Given the description of an element on the screen output the (x, y) to click on. 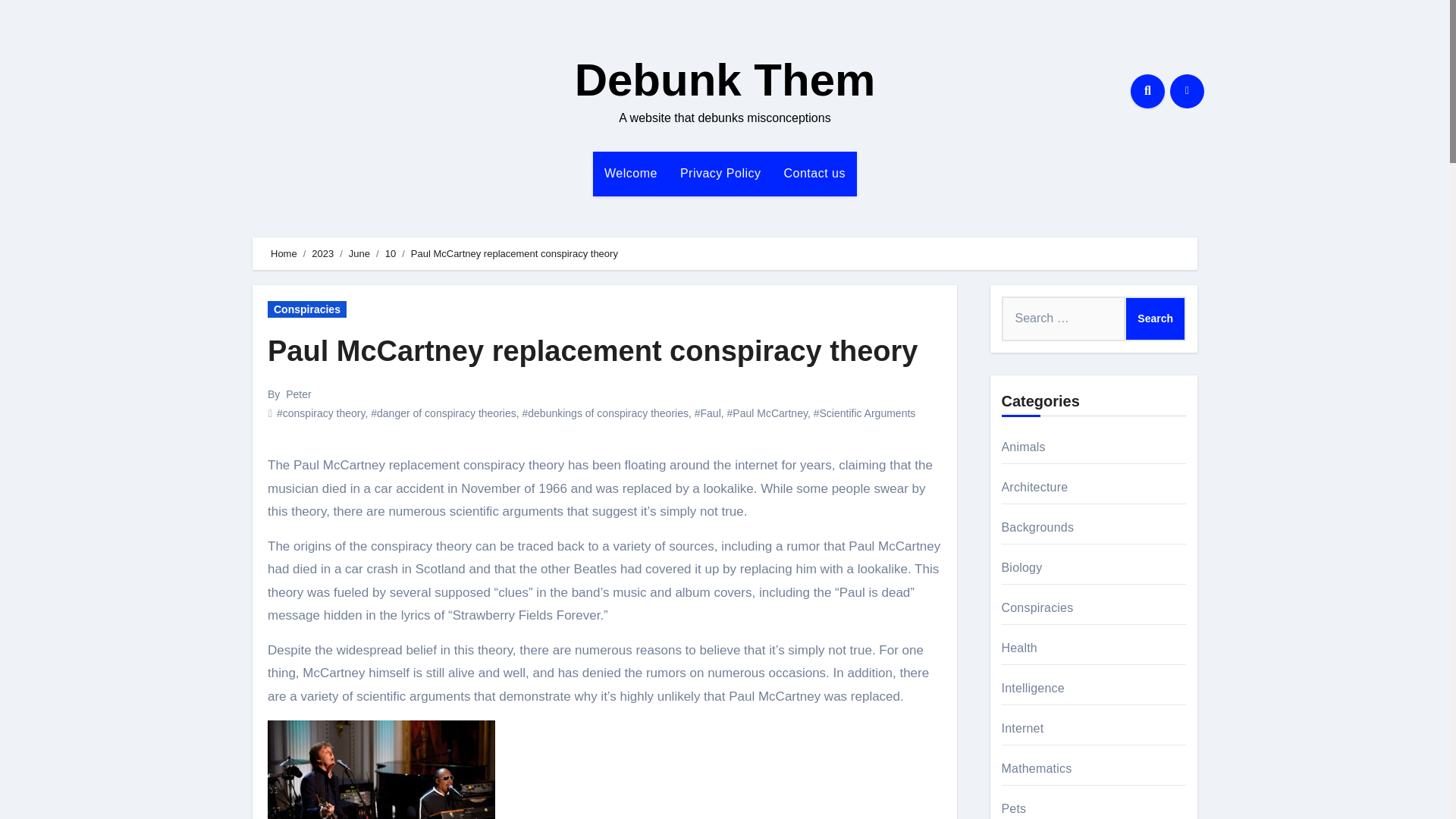
Peter (298, 394)
Privacy Policy (720, 173)
Debunk Them (725, 79)
Paul McCartney replacement conspiracy theory (592, 350)
Contact us (813, 173)
Search (1155, 318)
Permalink to: Paul McCartney replacement conspiracy theory (592, 350)
Welcome (630, 173)
Home (283, 253)
Conspiracies (306, 309)
